Given the description of an element on the screen output the (x, y) to click on. 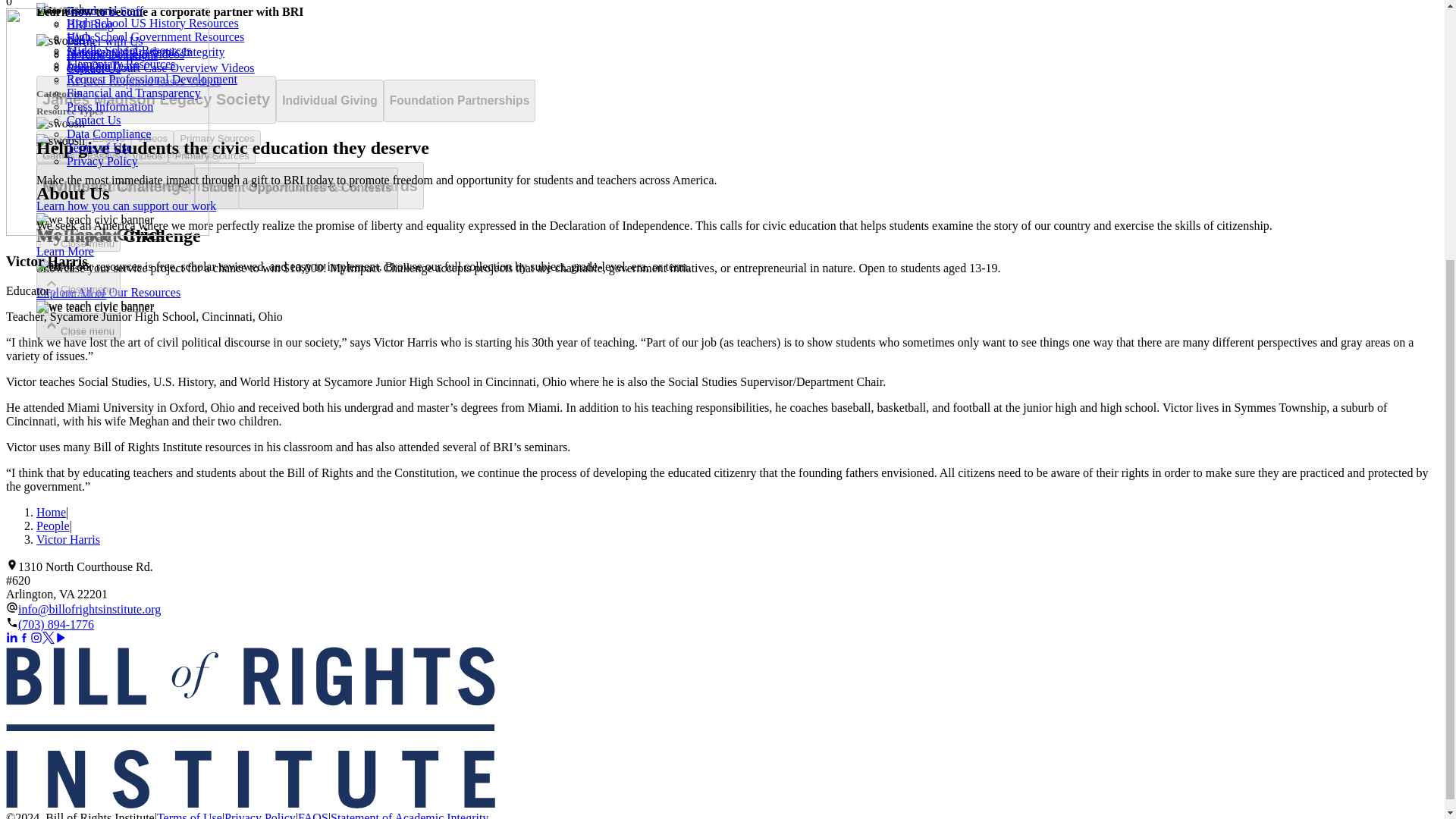
Follow us on twitter (48, 637)
Games (58, 155)
Find out More (71, 293)
Homework Help Videos (125, 53)
Games (58, 154)
Email icon (11, 607)
High School US History Resources (152, 22)
Follow us on facebook (23, 637)
Close menu (78, 325)
Primary Sources (212, 155)
